Given the description of an element on the screen output the (x, y) to click on. 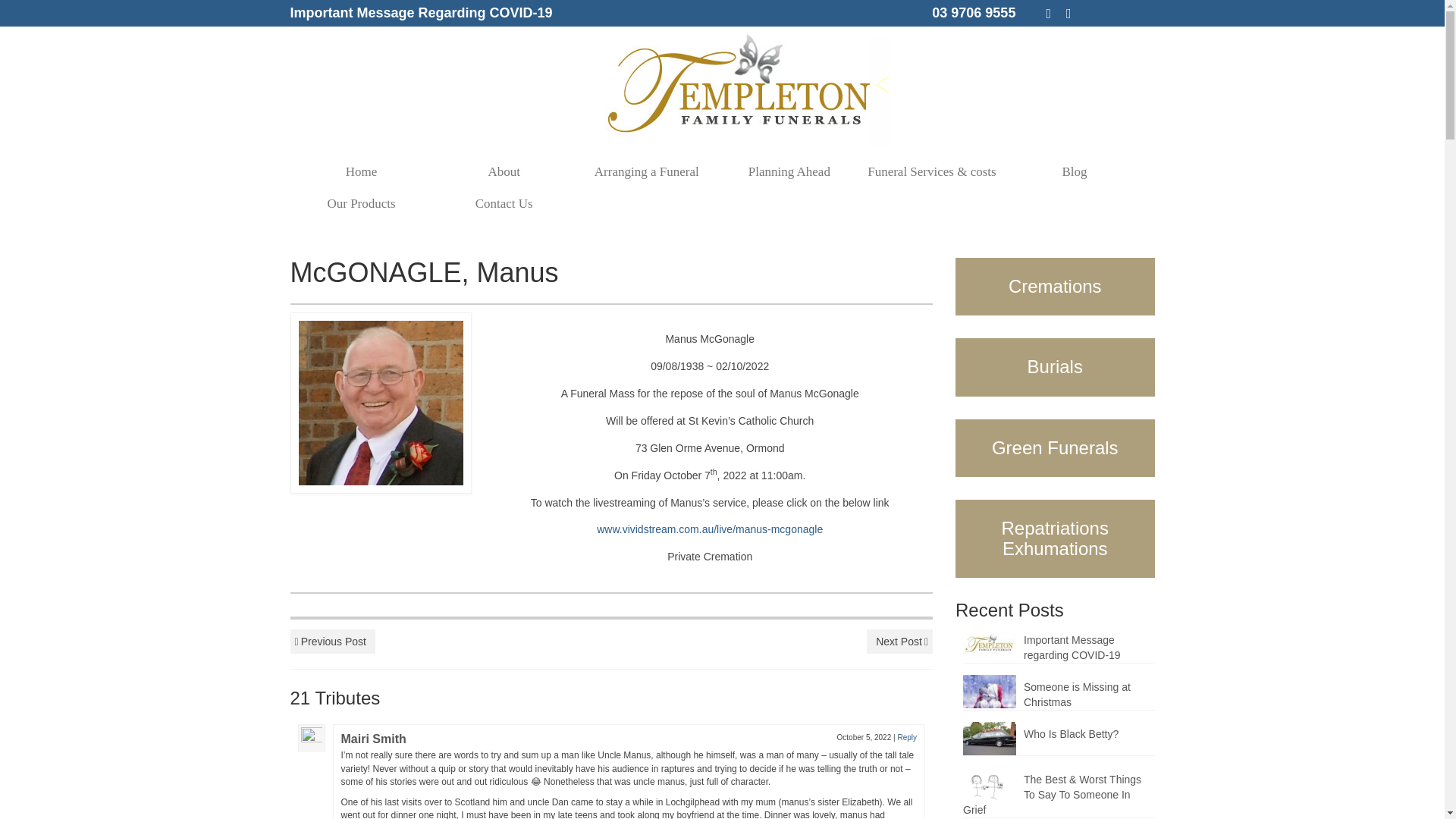
Home (360, 172)
Blog (1074, 172)
Important Message regarding COVID-19 (1058, 645)
Templeton Family Funerals (740, 91)
Someone is Missing at Christmas (1058, 692)
Our Products (360, 204)
Contact Us (503, 204)
About (503, 172)
Who Is Black Betty? (1058, 731)
03 9706 9555 (972, 12)
